Given the description of an element on the screen output the (x, y) to click on. 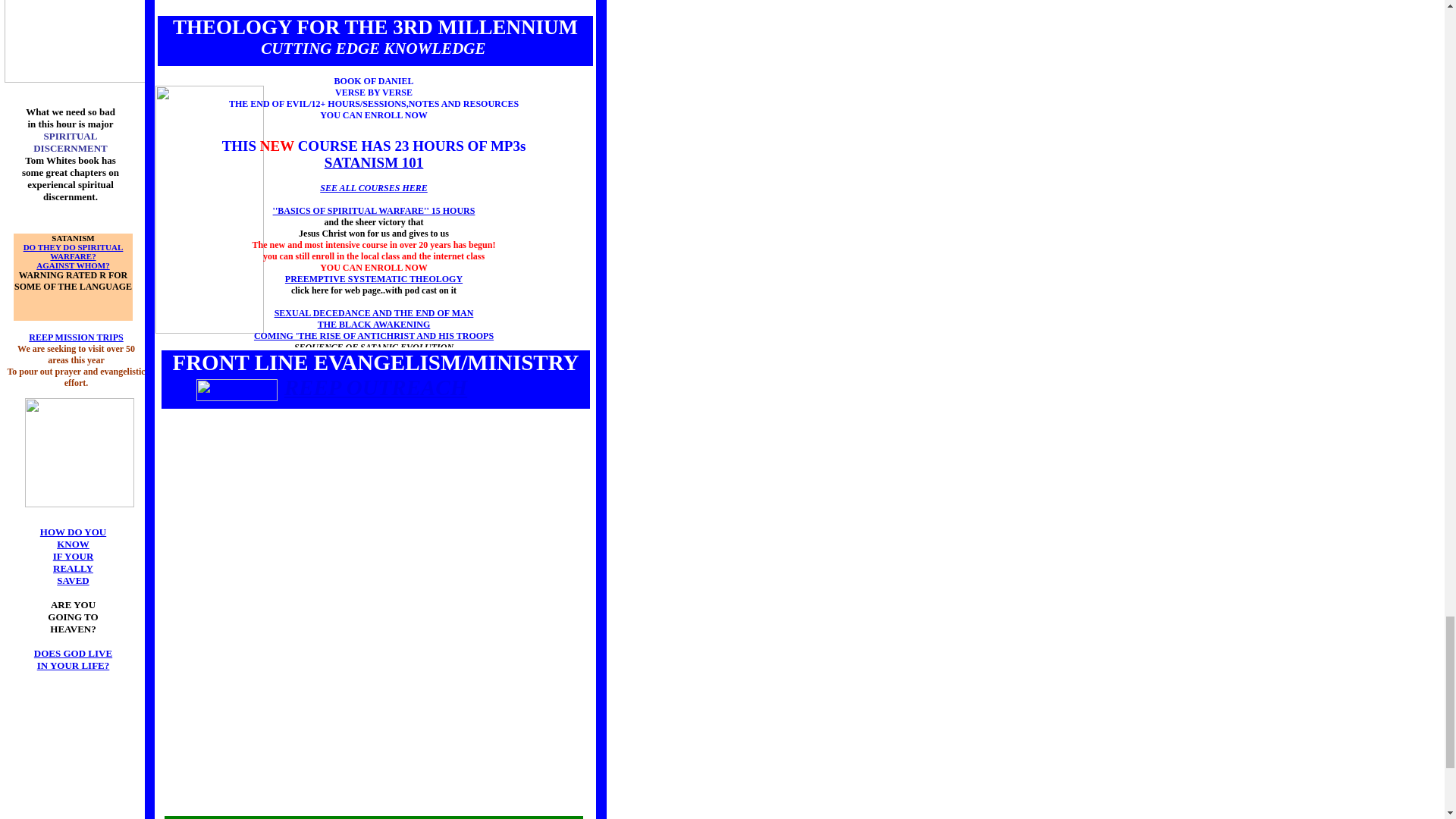
YOU CAN ENROLL TODAY (373, 162)
pod cast is on this web page (374, 278)
